Given the description of an element on the screen output the (x, y) to click on. 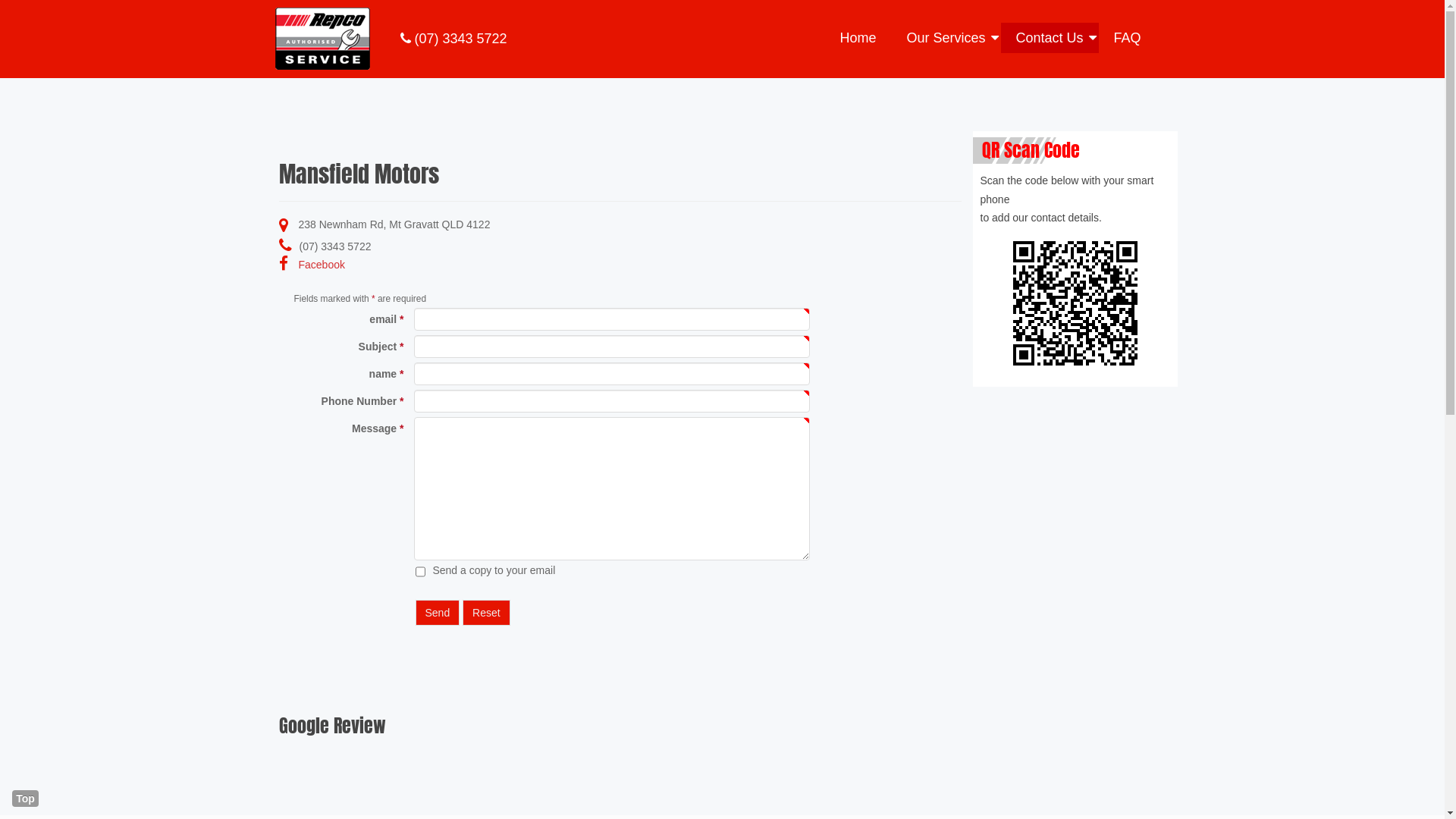
(07) 3343 5722 Element type: text (453, 38)
Contact Us Element type: text (1049, 37)
Reset Element type: text (486, 612)
Top Element type: text (25, 798)
Phone Element type: hover (285, 245)
Home Element type: text (858, 37)
Facebook Element type: hover (285, 263)
FAQ Element type: text (1127, 37)
Address Element type: hover (285, 224)
Our Services Element type: text (946, 37)
Send Element type: text (437, 612)
Facebook Element type: text (321, 264)
